Given the description of an element on the screen output the (x, y) to click on. 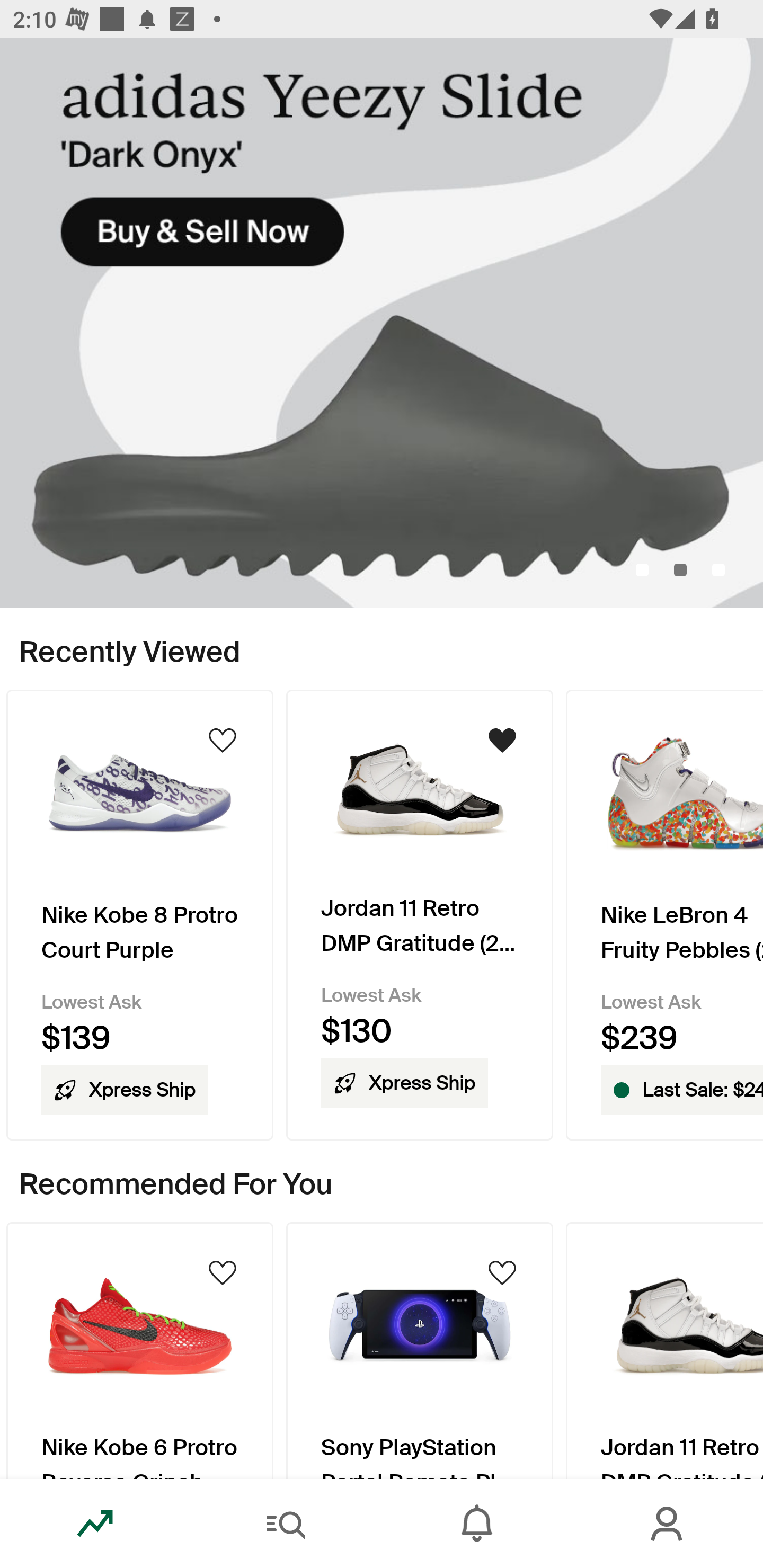
Product Image Nike Kobe 6 Protro Reverse Grinch (139, 1349)
Search (285, 1523)
Inbox (476, 1523)
Account (667, 1523)
